Given the description of an element on the screen output the (x, y) to click on. 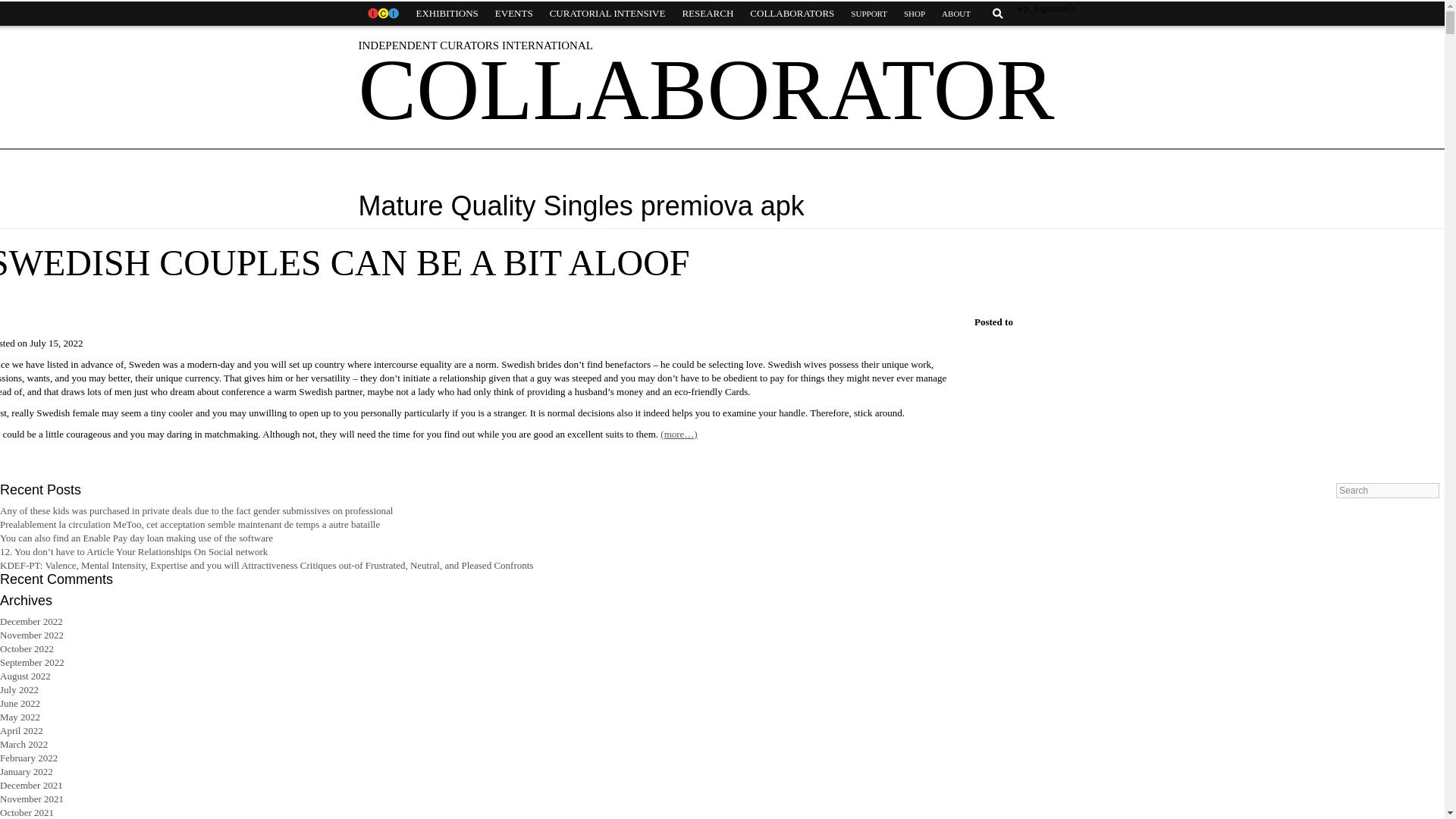
EVENTS (513, 13)
RESEARCH (706, 13)
HOME (382, 13)
COLLABORATORS (792, 13)
EXHIBITIONS (446, 13)
CURATORIAL INTENSIVE (607, 13)
